Given the description of an element on the screen output the (x, y) to click on. 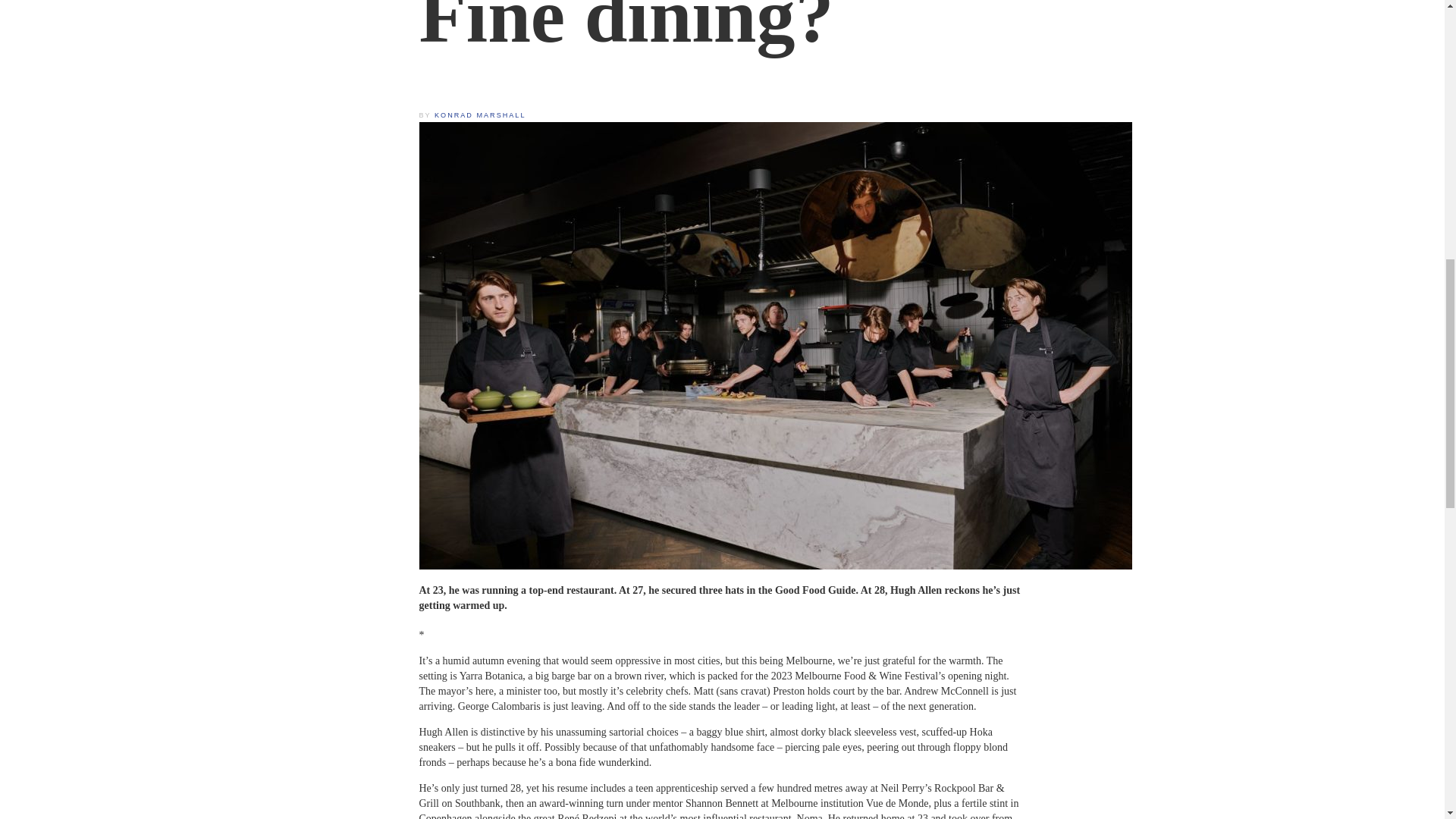
KONRAD MARSHALL (479, 114)
